Given the description of an element on the screen output the (x, y) to click on. 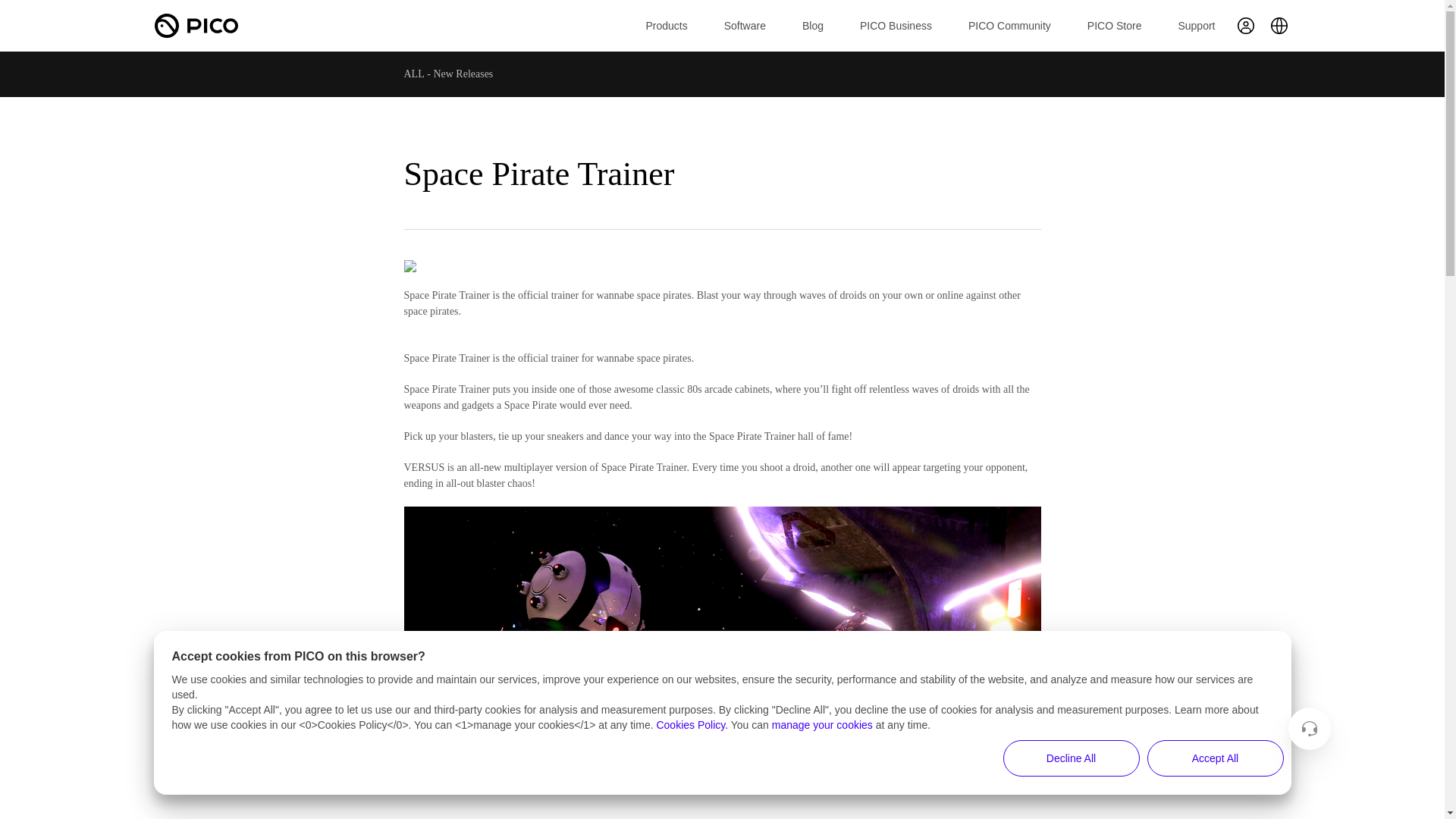
Support (1195, 25)
PICO Store (1114, 25)
PICO Community (1009, 25)
Blog (813, 25)
PICO Business (895, 25)
